Given the description of an element on the screen output the (x, y) to click on. 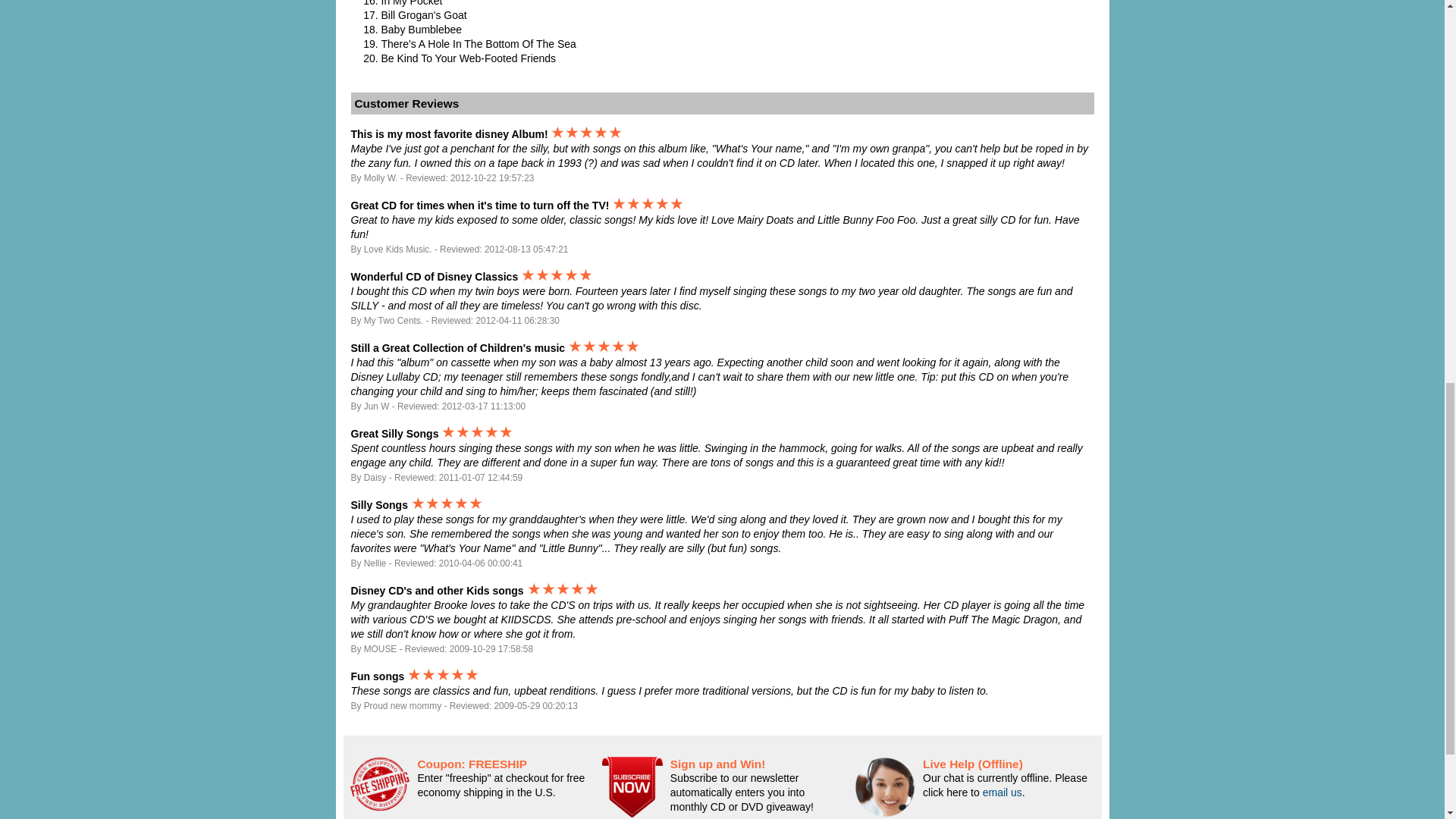
email us (1002, 792)
